Given the description of an element on the screen output the (x, y) to click on. 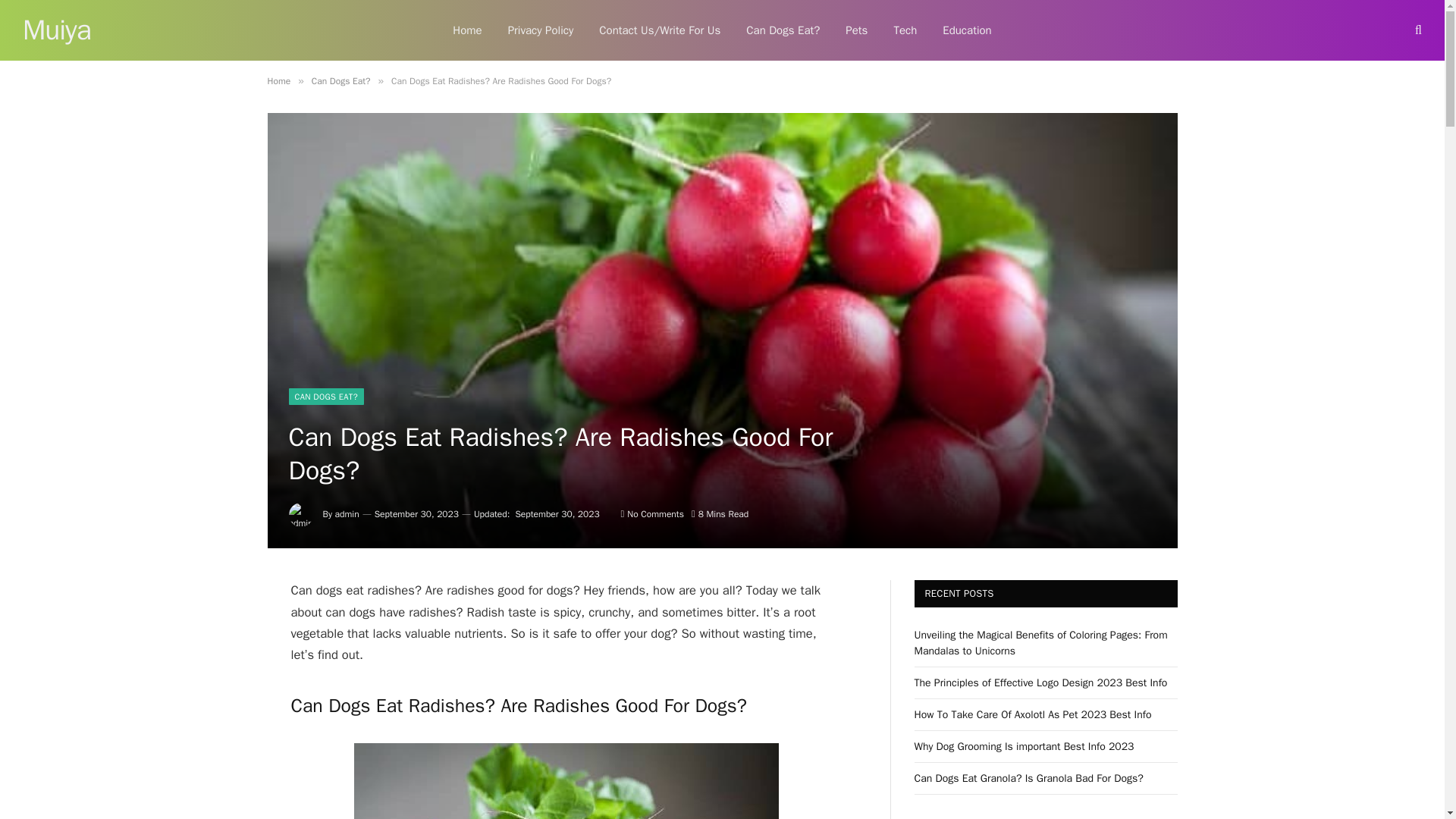
Education (967, 30)
CAN DOGS EAT? (325, 396)
Search (1417, 30)
Tech (905, 30)
admin (346, 513)
Muiya (56, 30)
Home (467, 30)
Posts by admin (346, 513)
Pets (856, 30)
Home (277, 80)
Privacy Policy (540, 30)
Can Dogs Eat? (782, 30)
No Comments (652, 513)
Can Dogs Eat? (341, 80)
Muiya (56, 30)
